Given the description of an element on the screen output the (x, y) to click on. 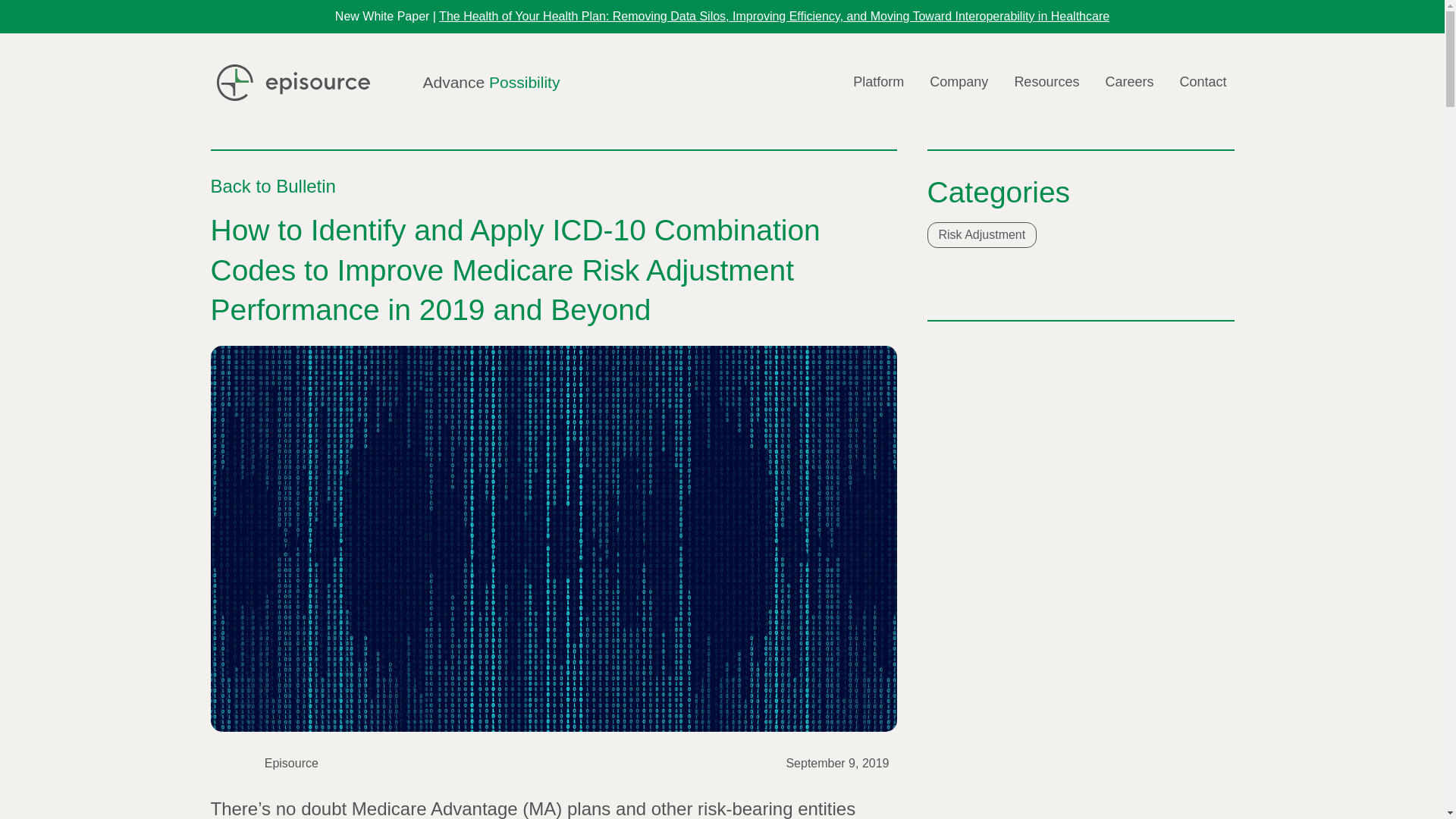
Risk Adjustment (981, 234)
Careers (1129, 81)
Resources (1045, 81)
Contact (1202, 81)
Back to Bulletin (273, 186)
Company (959, 81)
Platform (878, 81)
